Given the description of an element on the screen output the (x, y) to click on. 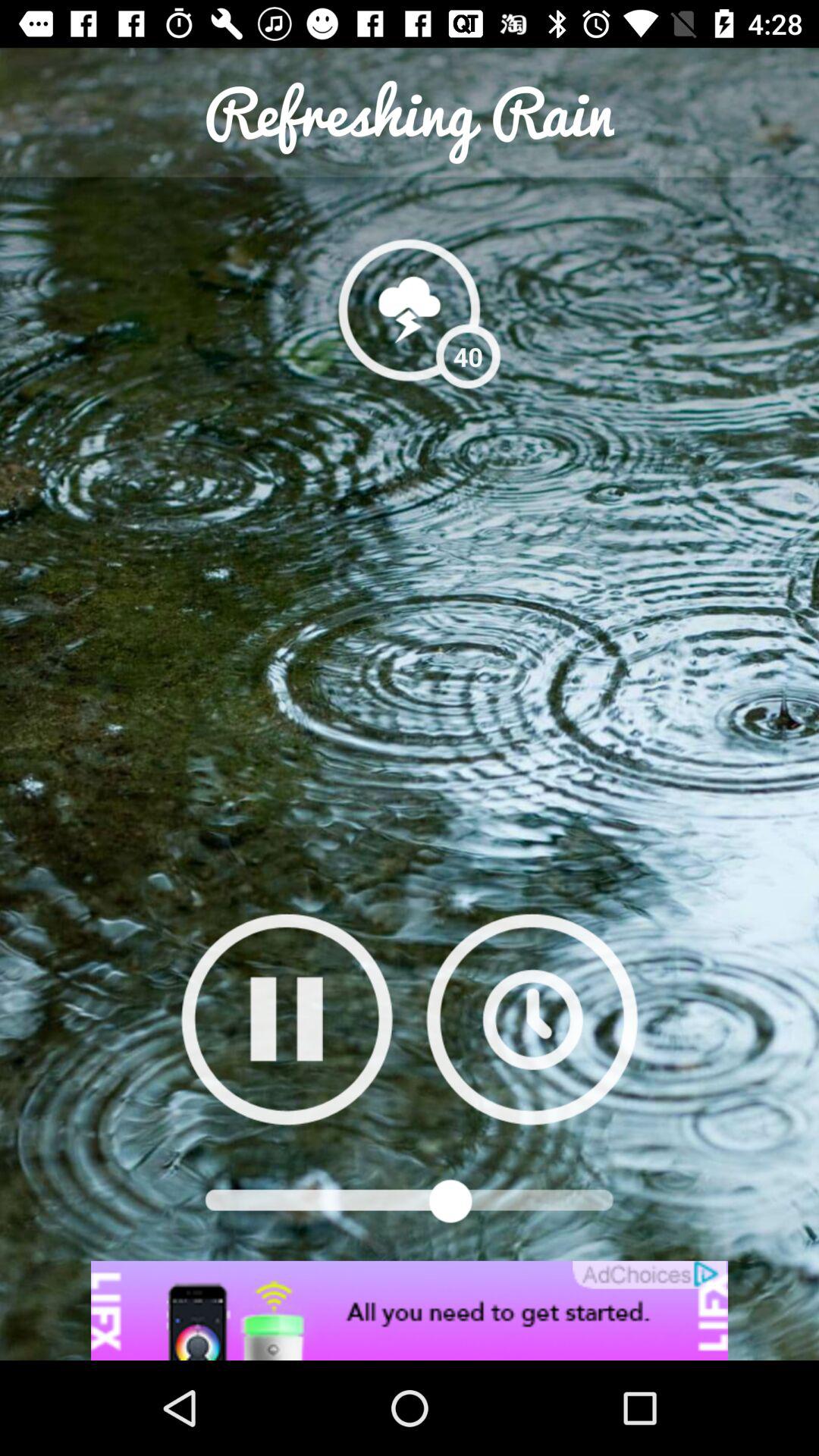
set timer (531, 1018)
